Given the description of an element on the screen output the (x, y) to click on. 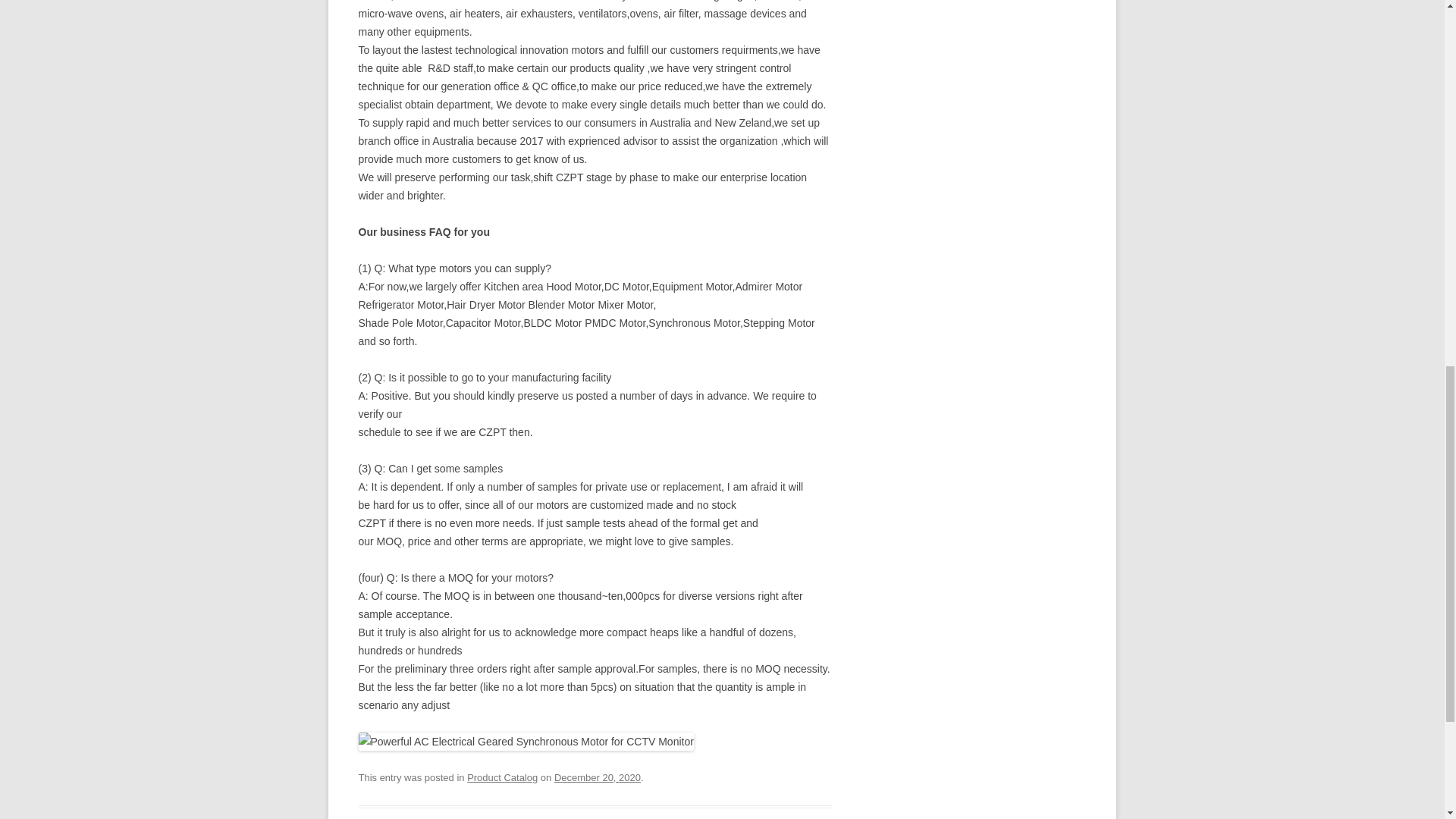
4:17 pm (597, 777)
December 20, 2020 (597, 777)
Product Catalog (502, 777)
